Given the description of an element on the screen output the (x, y) to click on. 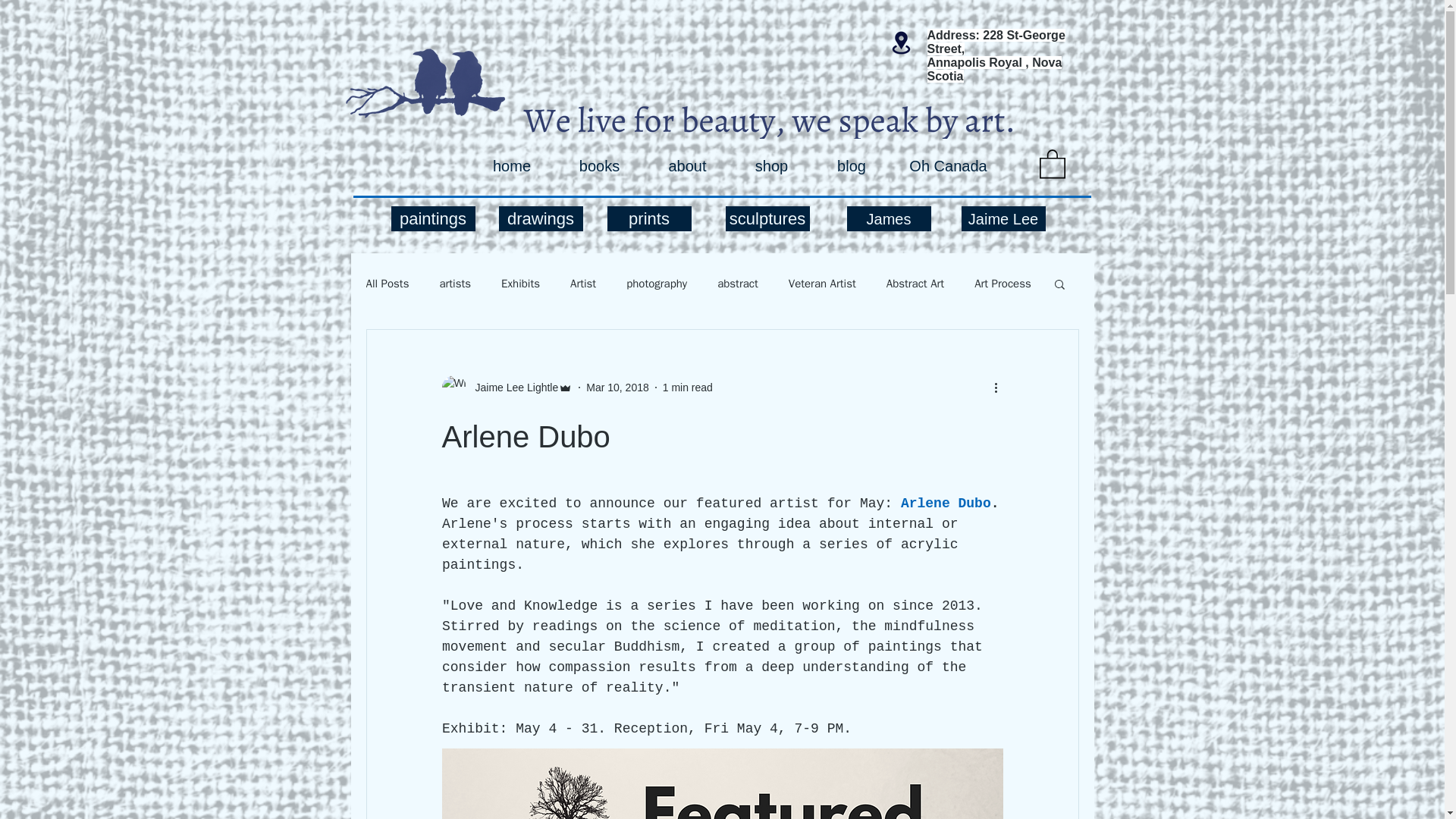
James (887, 218)
paintings (433, 218)
prints (648, 218)
Oh Canada (947, 166)
home (511, 166)
Exhibits (520, 283)
about (687, 166)
books (599, 166)
Veteran Artist (822, 283)
All Posts (387, 283)
